Given the description of an element on the screen output the (x, y) to click on. 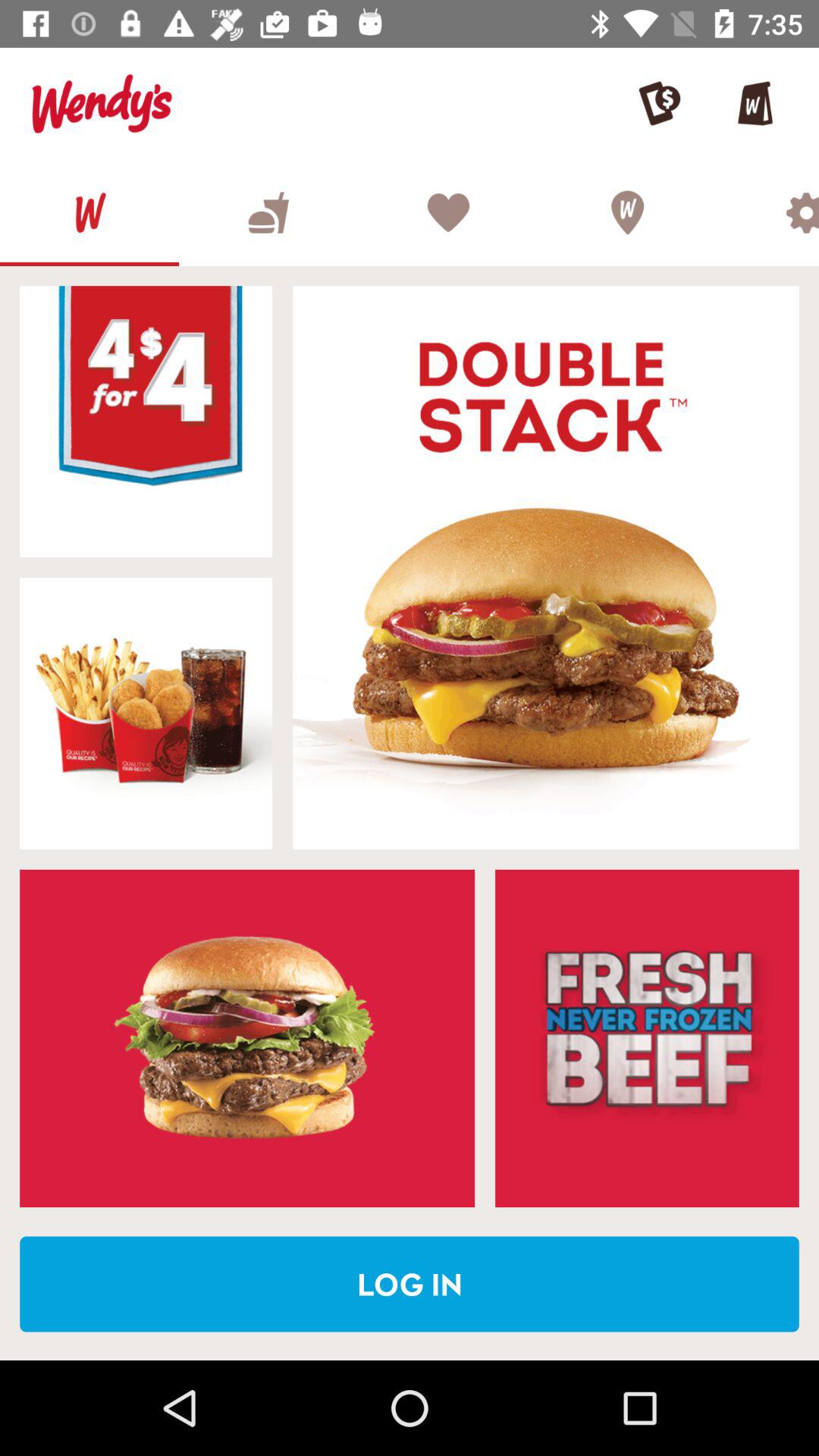
enable location (626, 212)
